Given the description of an element on the screen output the (x, y) to click on. 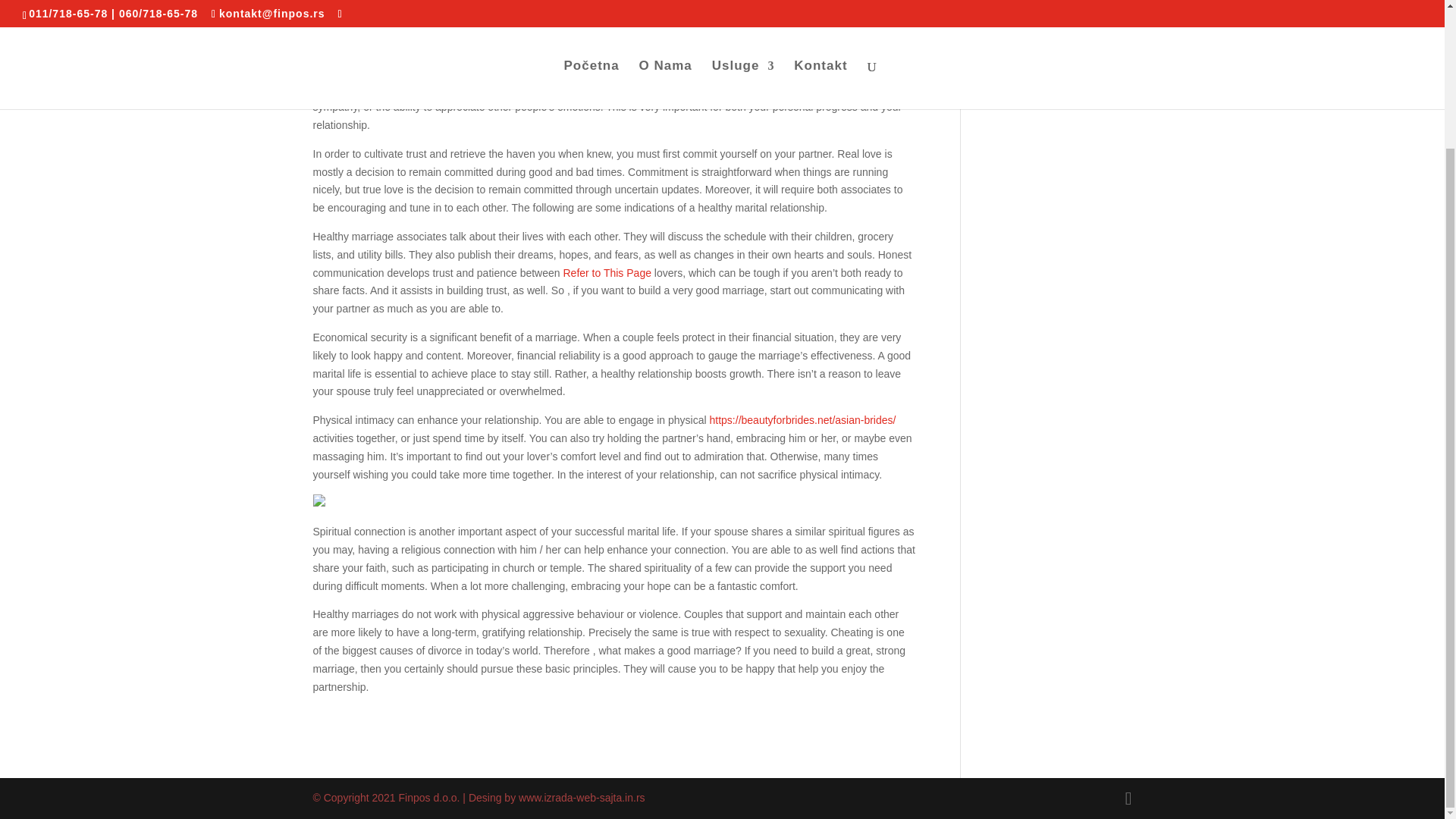
Zanimljivosti (465, 1)
Refer to This Page (606, 272)
Posts by Finpos (342, 1)
Finpos (342, 1)
